Given the description of an element on the screen output the (x, y) to click on. 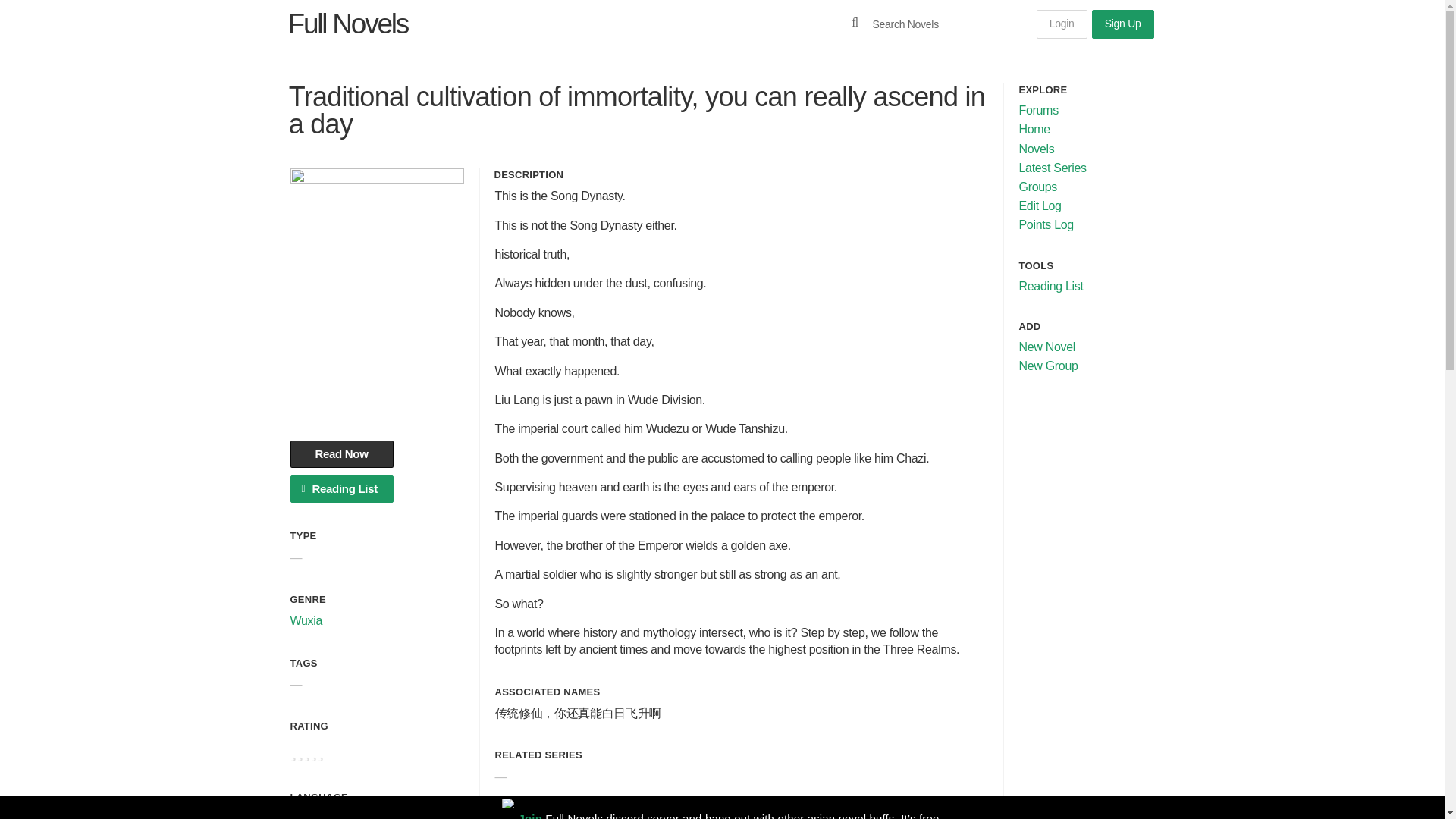
Latest Series (1052, 167)
Edit Log (1040, 205)
Reading List (341, 488)
Groups (1038, 186)
Wuxia (305, 620)
New Novel (1047, 346)
Login (1061, 23)
Forums (1038, 110)
New Group (1048, 365)
Points Log (1046, 224)
Sign Up (1123, 23)
Reading List (1051, 286)
Home (1034, 128)
Full Novels (348, 23)
Join Discord Server (521, 807)
